Given the description of an element on the screen output the (x, y) to click on. 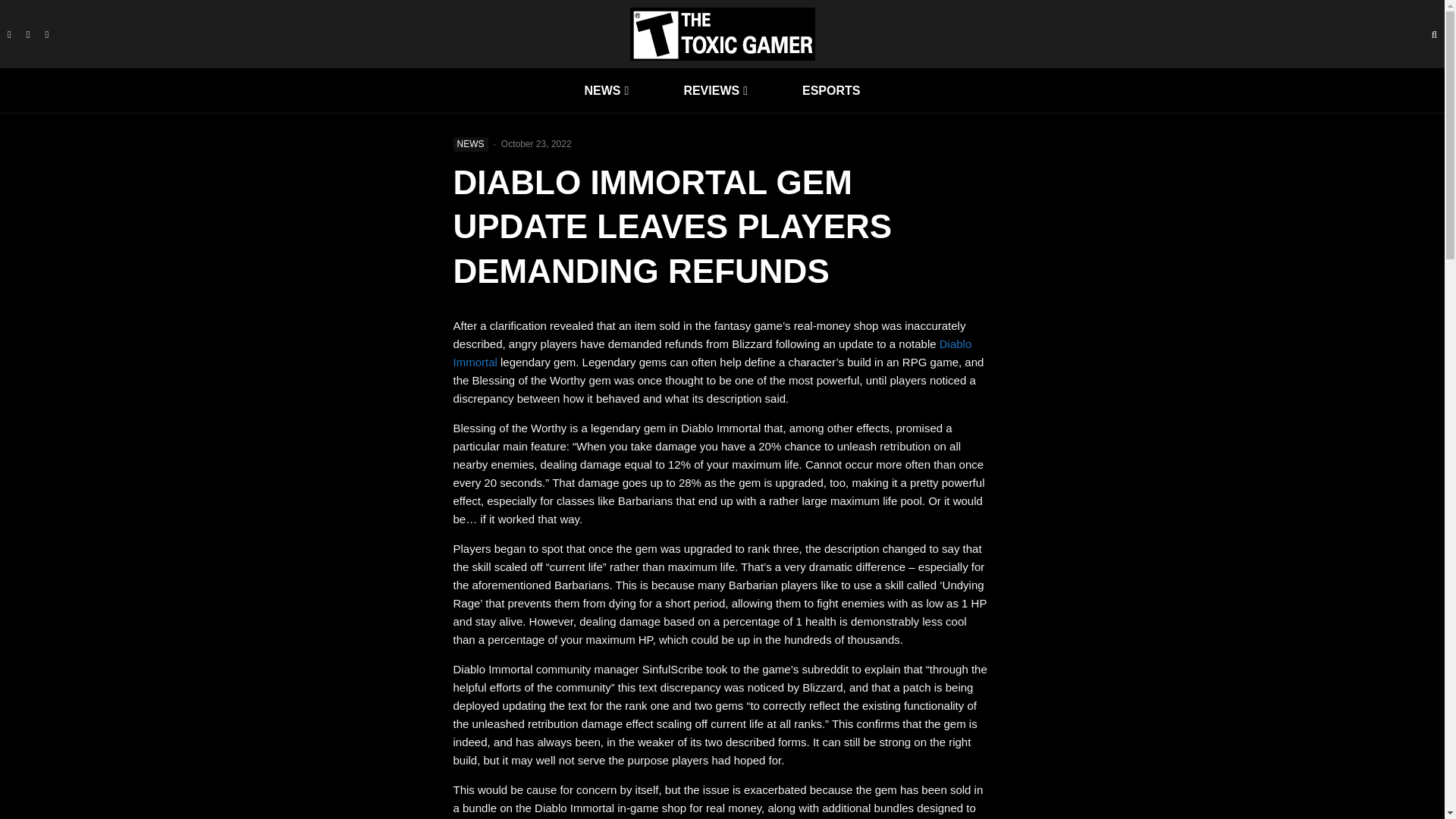
REVIEWS (715, 90)
NEWS (469, 144)
Diablo Immortal (712, 352)
ESPORTS (830, 90)
NEWS (606, 90)
